Given the description of an element on the screen output the (x, y) to click on. 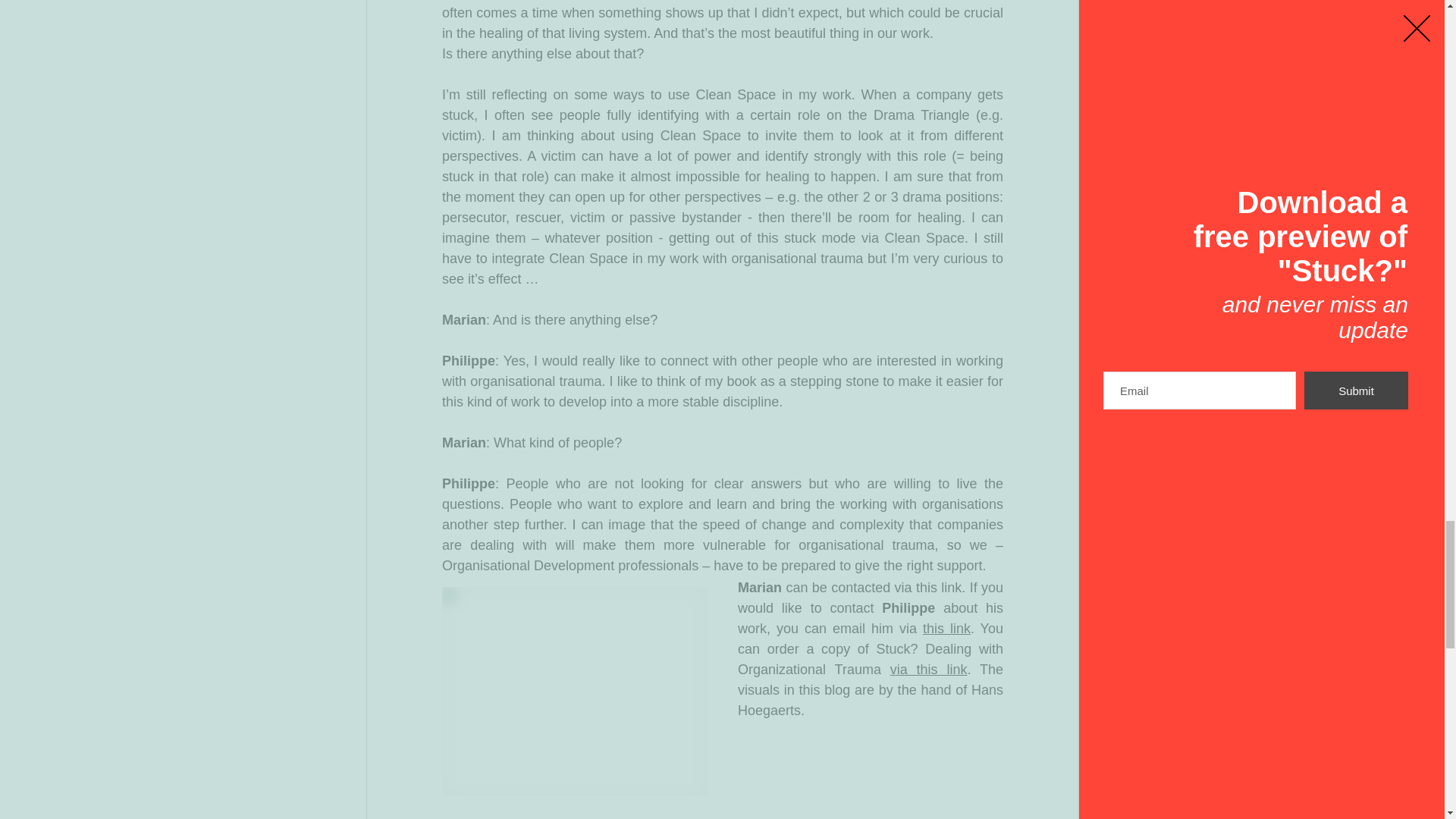
Hans Hoegaerts (871, 700)
this link (945, 628)
via this link (927, 669)
link (950, 587)
